Given the description of an element on the screen output the (x, y) to click on. 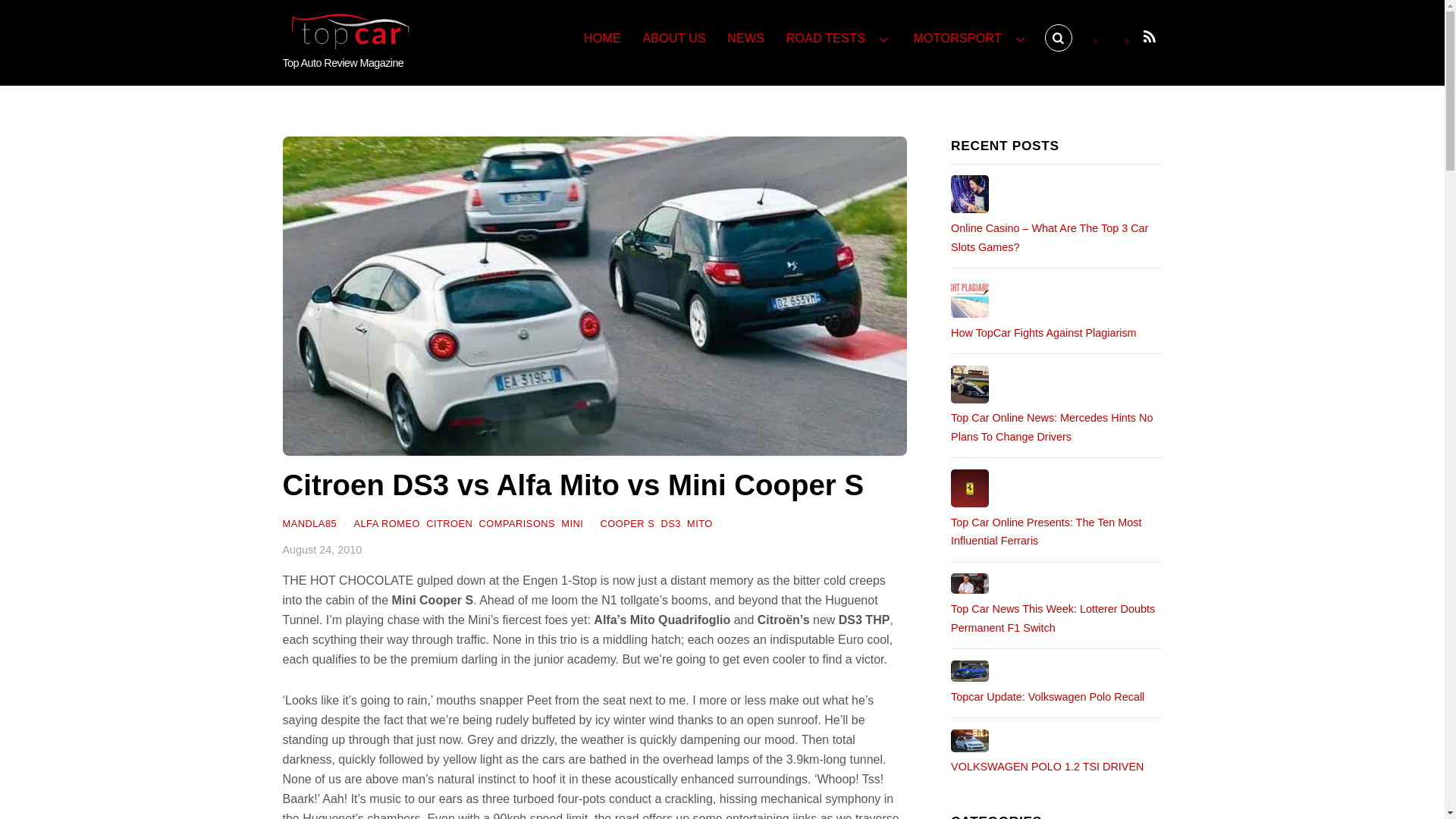
ABOUT US (673, 38)
VOLKSWAGEN POLO 1.2 TSI DRIVEN (969, 740)
Ferrari (969, 487)
MOTORSPORT (971, 38)
f1 mercedes (969, 384)
ROAD TESTS (838, 38)
COOPER S (627, 523)
MINI (571, 523)
Carslots (969, 193)
Top Car Magazine (346, 42)
Top Car News This Week: Lotterer Doubts Permanent F1 Switch (1055, 618)
DS3 (670, 523)
ALFA ROMEO (386, 523)
CITROEN (448, 523)
NEWS (745, 38)
